Given the description of an element on the screen output the (x, y) to click on. 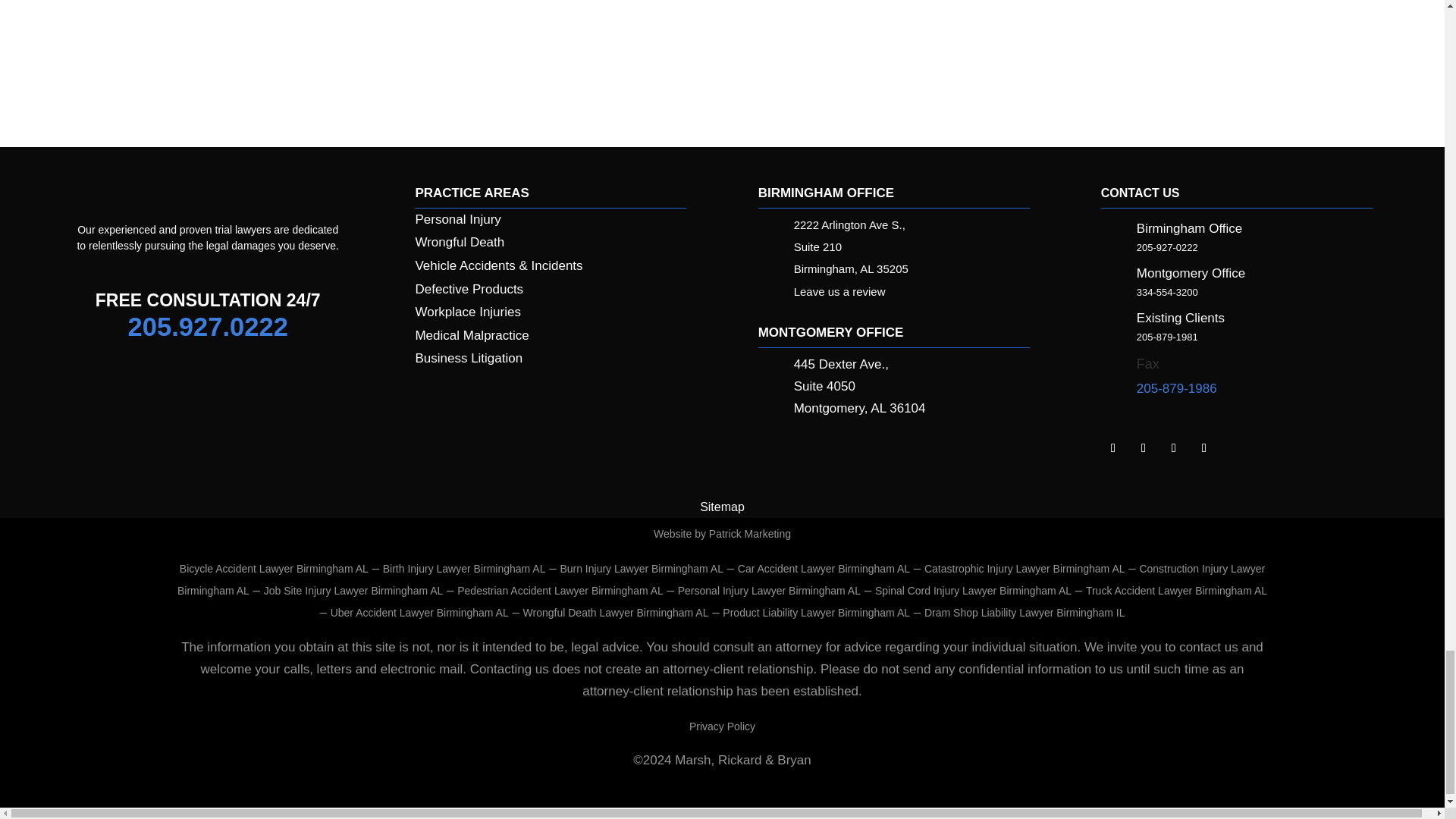
Follow on X (1173, 447)
Follow on Facebook (1143, 447)
Follow on Youtube (1203, 447)
Follow on LinkedIn (1112, 447)
